Given the description of an element on the screen output the (x, y) to click on. 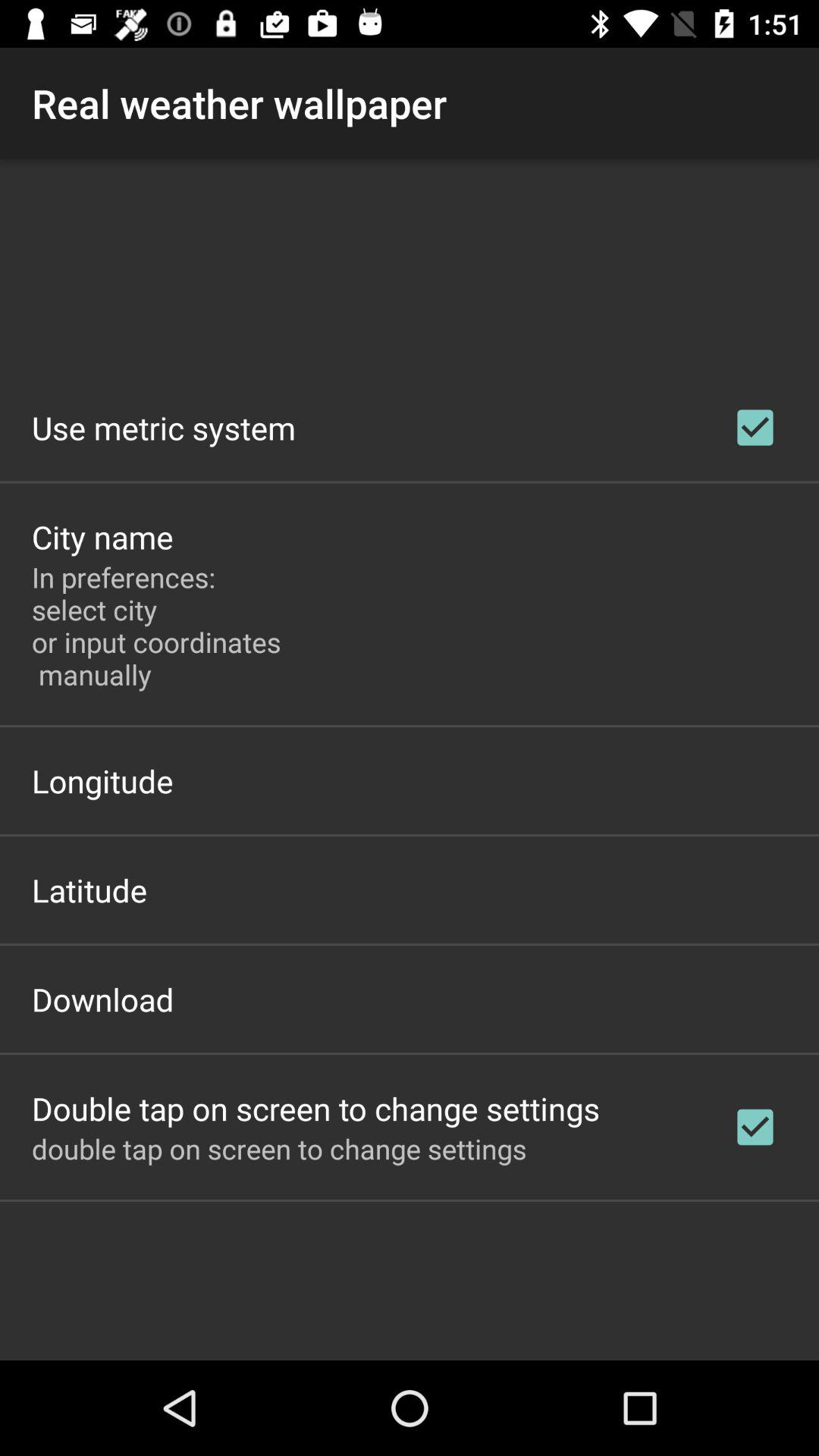
press the app above the double tap on item (102, 998)
